Given the description of an element on the screen output the (x, y) to click on. 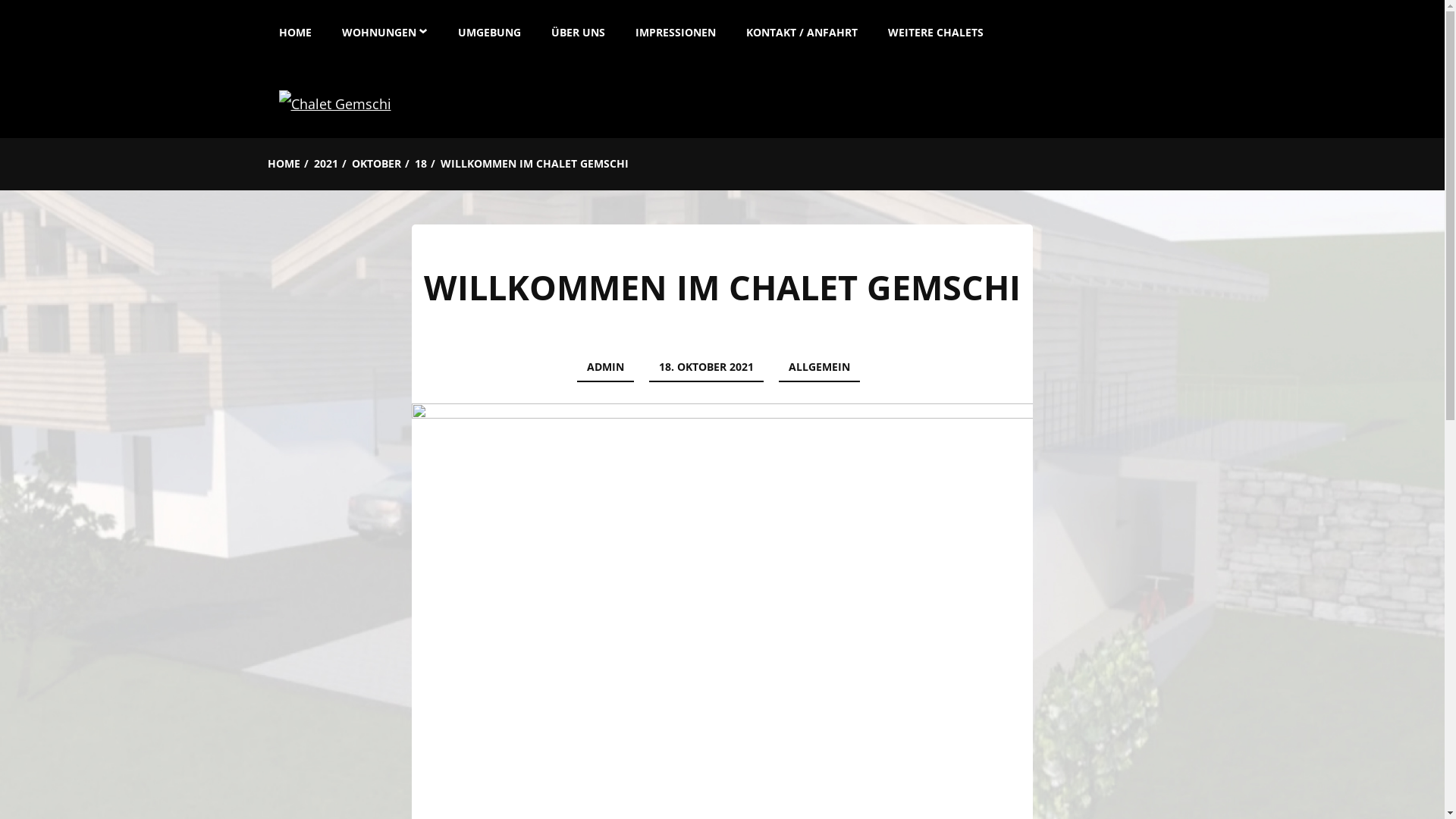
WOHNUNGEN Element type: text (384, 28)
ADMIN Element type: text (605, 367)
WOHNUNG 4 PERSONEN DG Element type: text (409, 165)
OKTOBER Element type: text (376, 164)
HOME Element type: text (282, 164)
ALLGEMEIN Element type: text (818, 367)
18 Element type: text (420, 164)
2021 Element type: text (325, 164)
IMPRESSIONEN Element type: text (675, 28)
WEITERE CHALETS Element type: text (934, 28)
KONTAKT / ANFAHRT Element type: text (801, 28)
UMGEBUNG Element type: text (489, 28)
18. OKTOBER 2021 Element type: text (706, 367)
WOHNUNG 2 PERSONEN EG Element type: text (409, 97)
HOME Element type: text (302, 28)
